Given the description of an element on the screen output the (x, y) to click on. 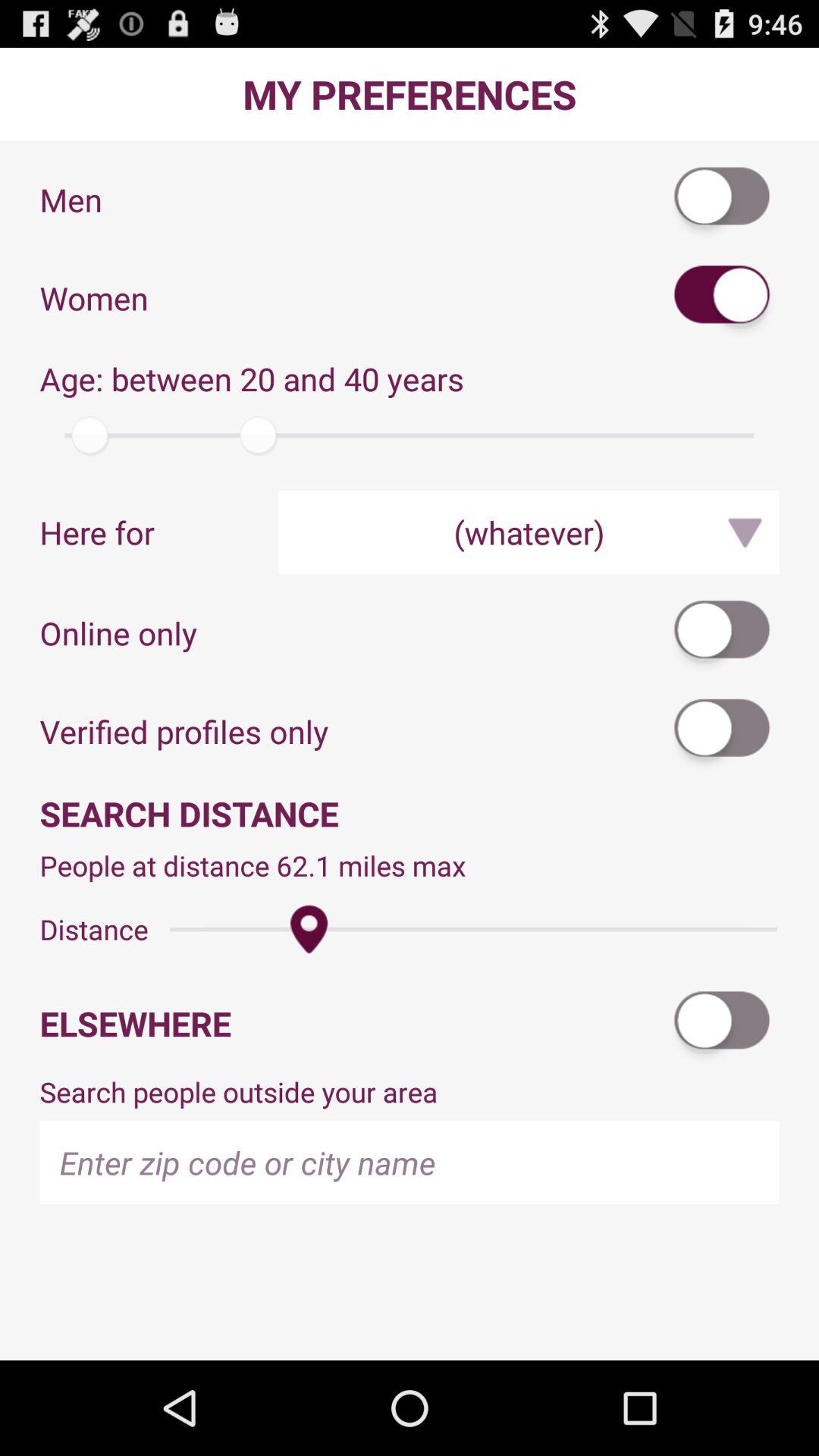
press item next to online only app (722, 632)
